Given the description of an element on the screen output the (x, y) to click on. 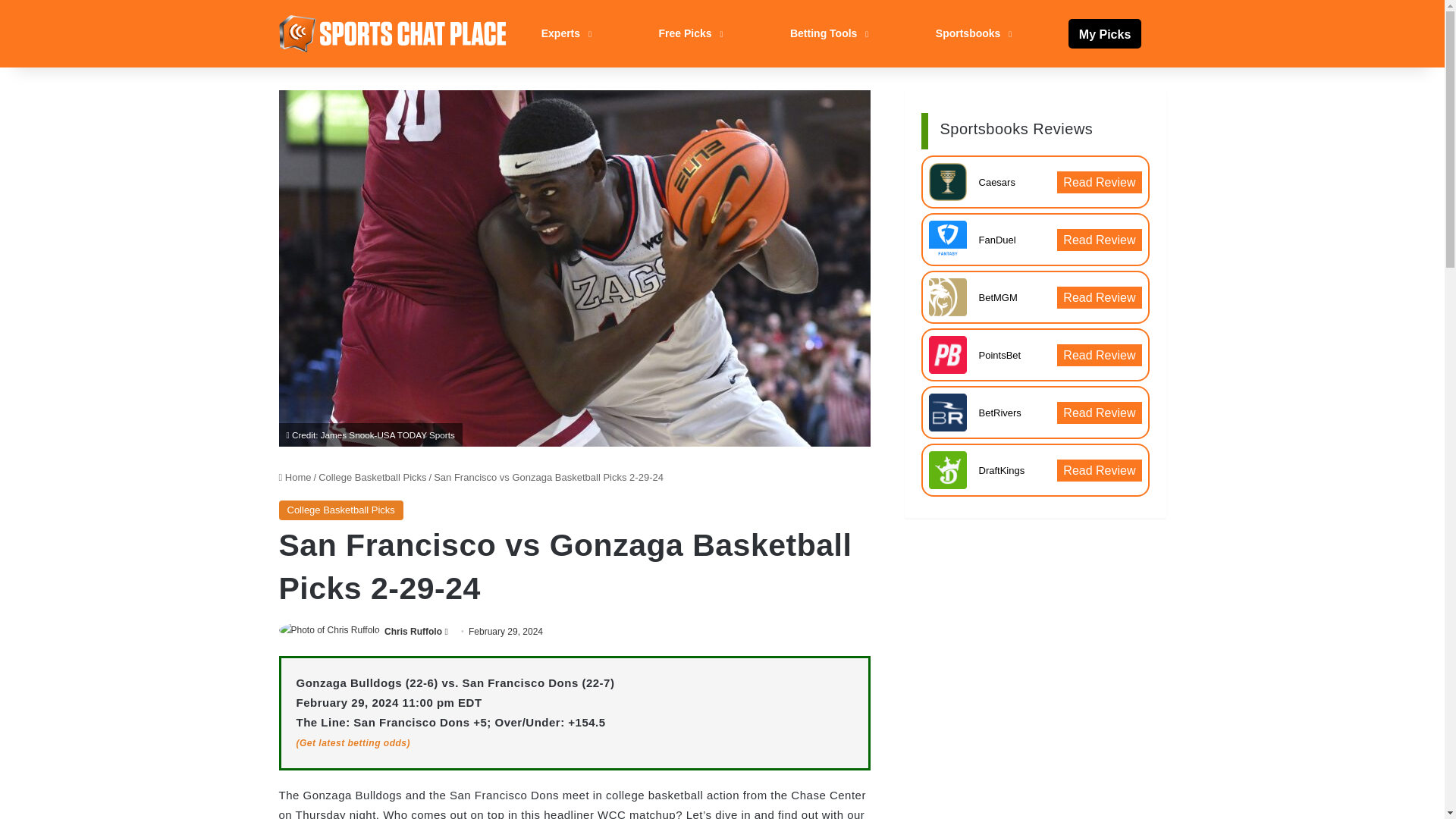
Experts (564, 33)
Free Picks (688, 33)
Betting Tools (827, 33)
Chris Ruffolo (413, 631)
Sports Chat Place Picks, Betting News (392, 33)
